Given the description of an element on the screen output the (x, y) to click on. 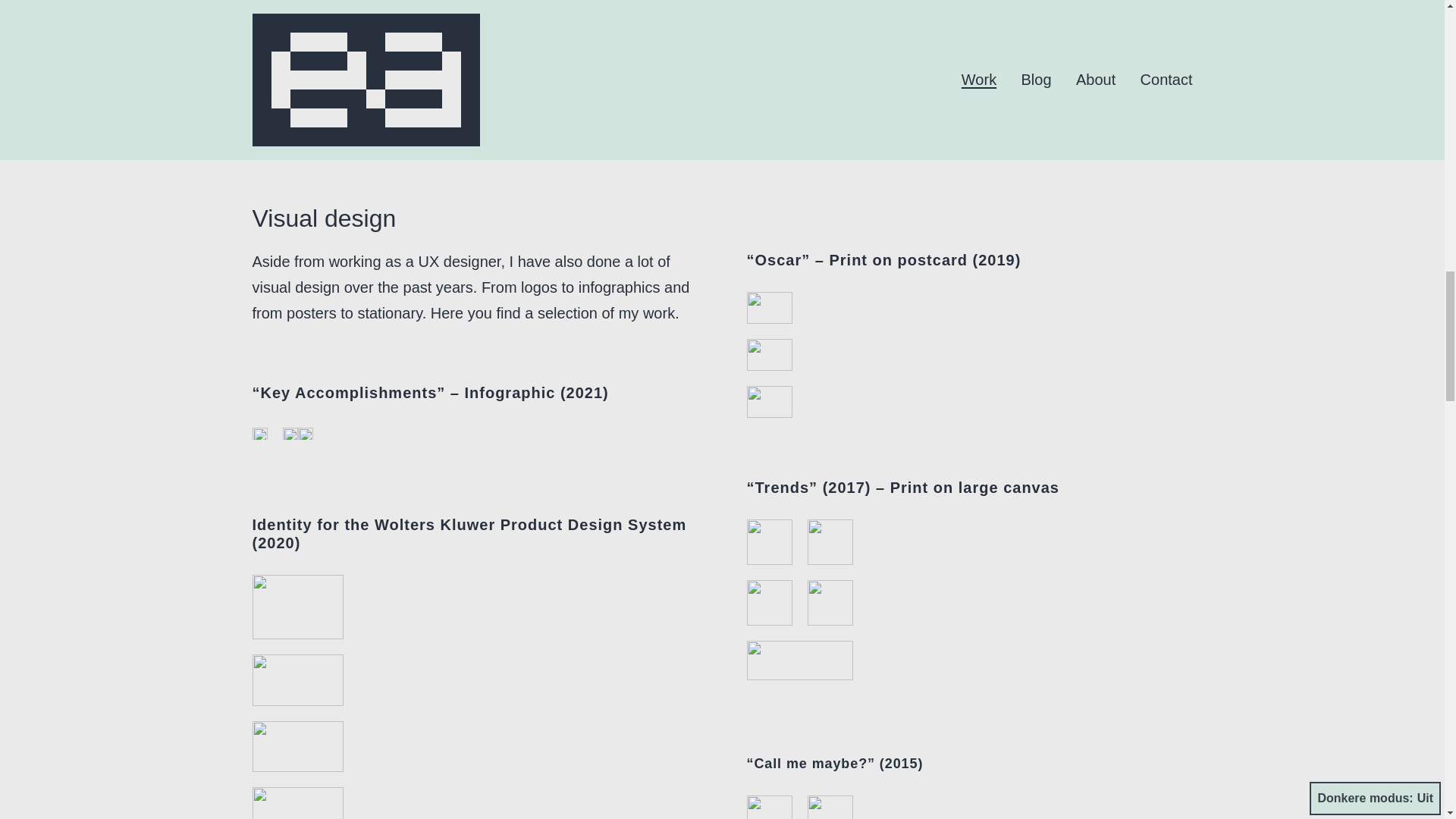
linkedin (652, 29)
email (537, 29)
twitter (584, 29)
